Given the description of an element on the screen output the (x, y) to click on. 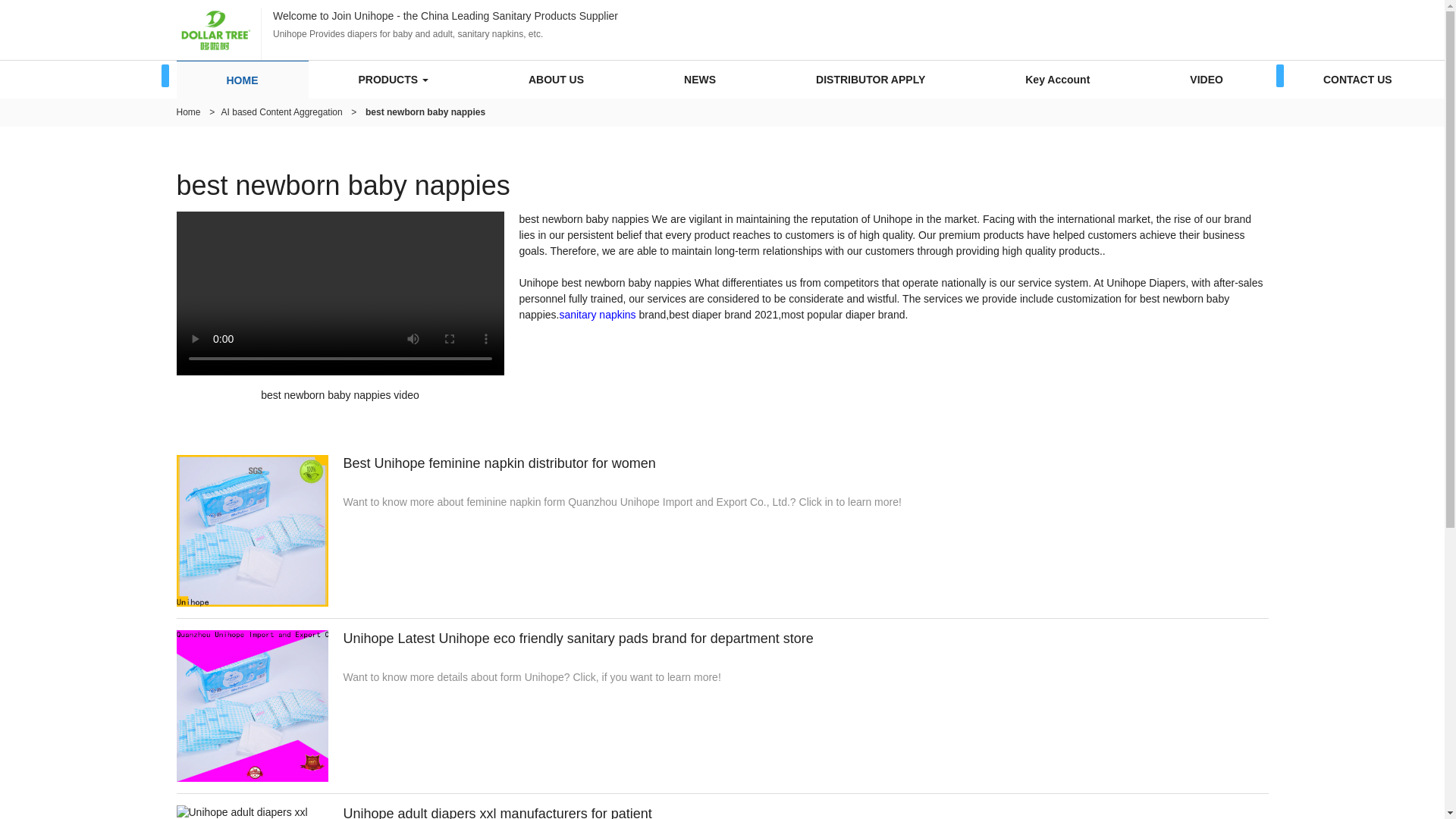
CONTACT US (1357, 79)
NEWS (699, 79)
PRODUCTS (393, 79)
DISTRIBUTOR APPLY (870, 79)
ABOUT US (555, 79)
HOME (242, 80)
Key Account (1056, 79)
